Given the description of an element on the screen output the (x, y) to click on. 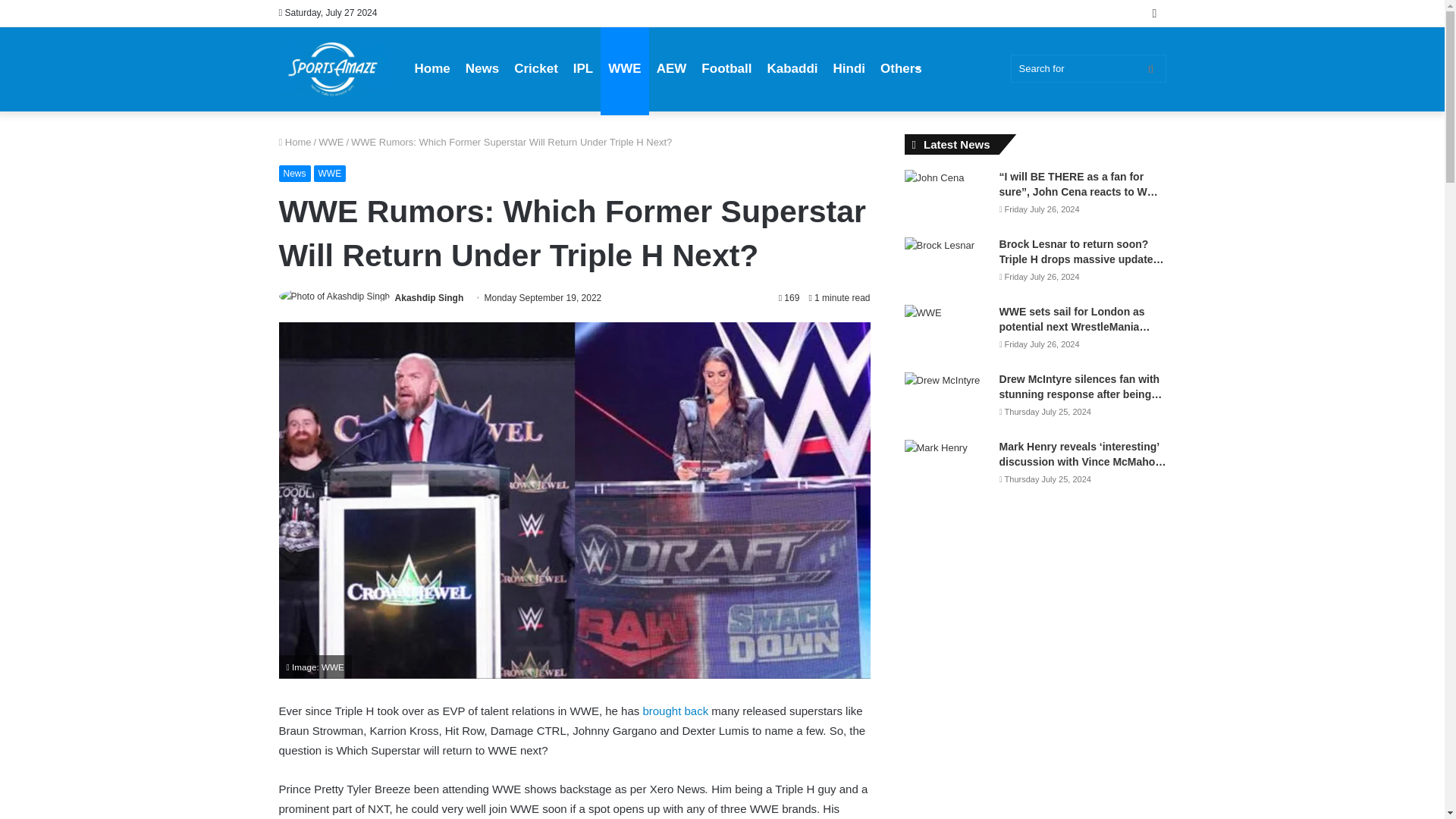
Akashdip Singh (429, 297)
Akashdip Singh (429, 297)
Sports Amaze (333, 68)
Search for (1088, 68)
WWE (330, 173)
WWE (330, 142)
News (295, 173)
Home (295, 142)
brought back (674, 710)
